Given the description of an element on the screen output the (x, y) to click on. 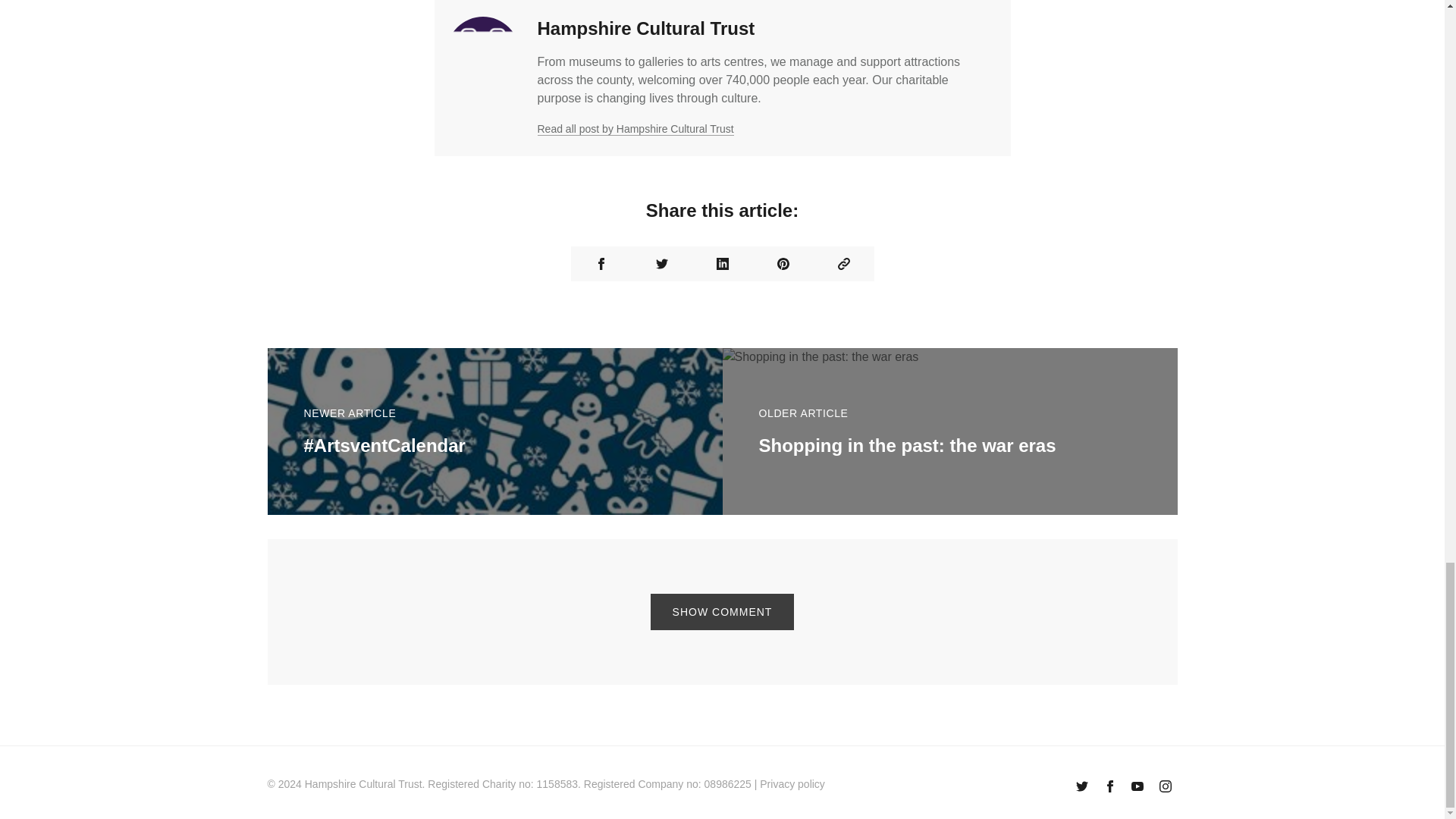
Hampshire Cultural Trust (363, 784)
SHOW COMMENT (722, 611)
Share on Facebook (600, 263)
Read all post by Hampshire Cultural Trust (635, 128)
Share on Linkedin (721, 263)
Hampshire Cultural Trust (645, 28)
Share on Pinterest (782, 263)
Shopping in the past: the war eras (906, 444)
Privacy policy (792, 784)
Share on Twitter (660, 263)
